Given the description of an element on the screen output the (x, y) to click on. 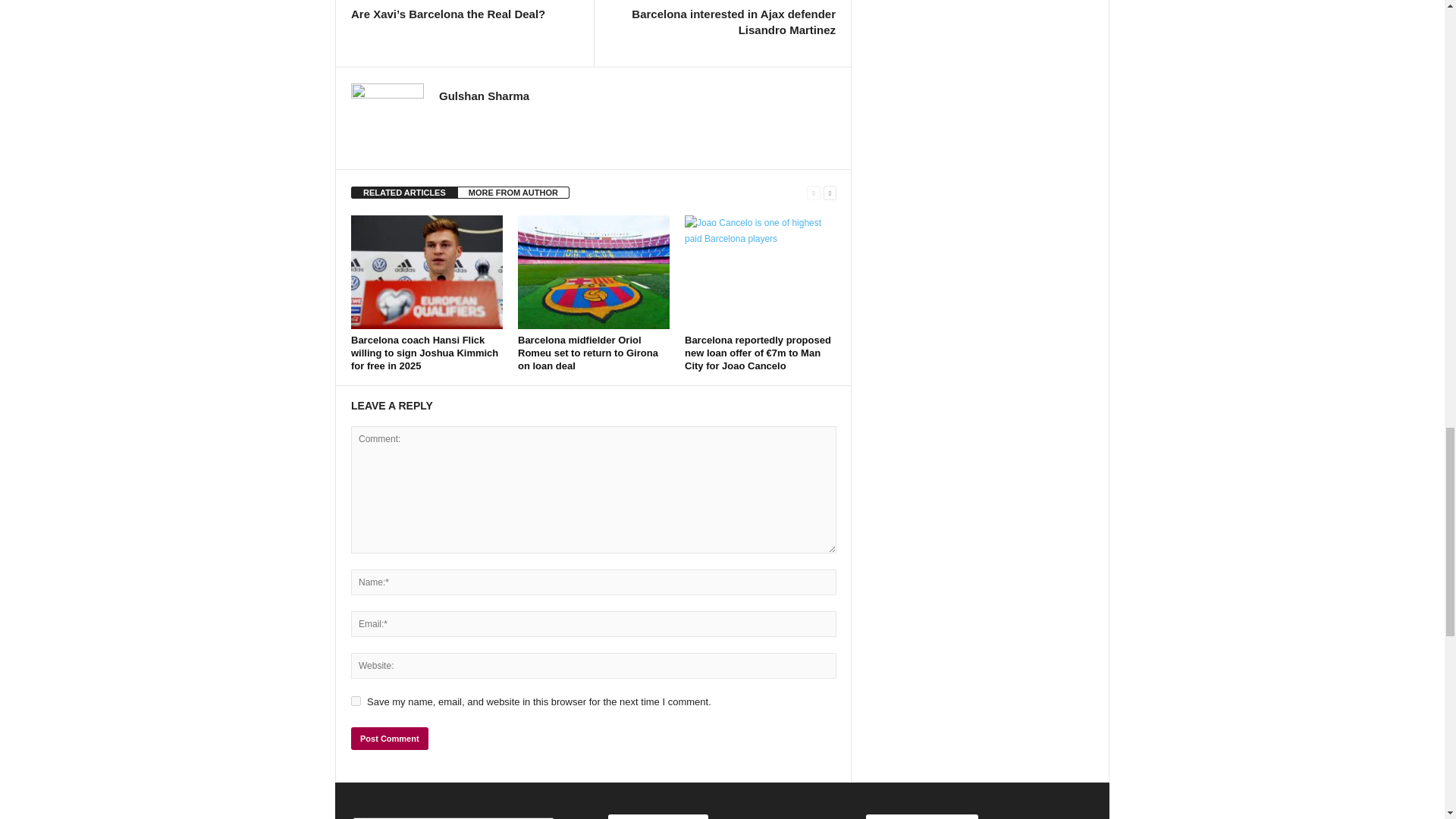
Post Comment (389, 738)
yes (355, 700)
